Given the description of an element on the screen output the (x, y) to click on. 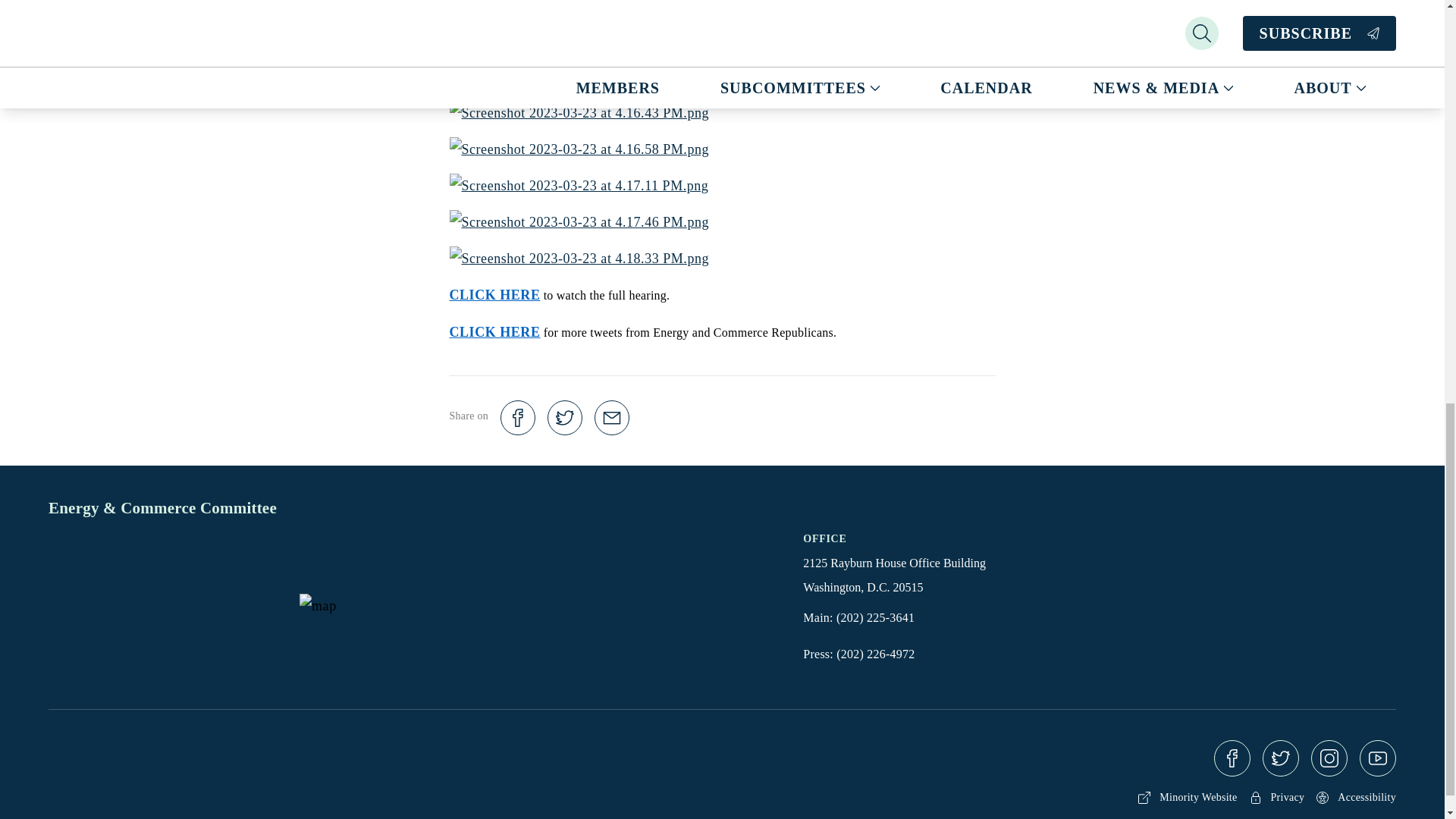
CLICK HERE (494, 294)
CLICK HERE (494, 331)
